Given the description of an element on the screen output the (x, y) to click on. 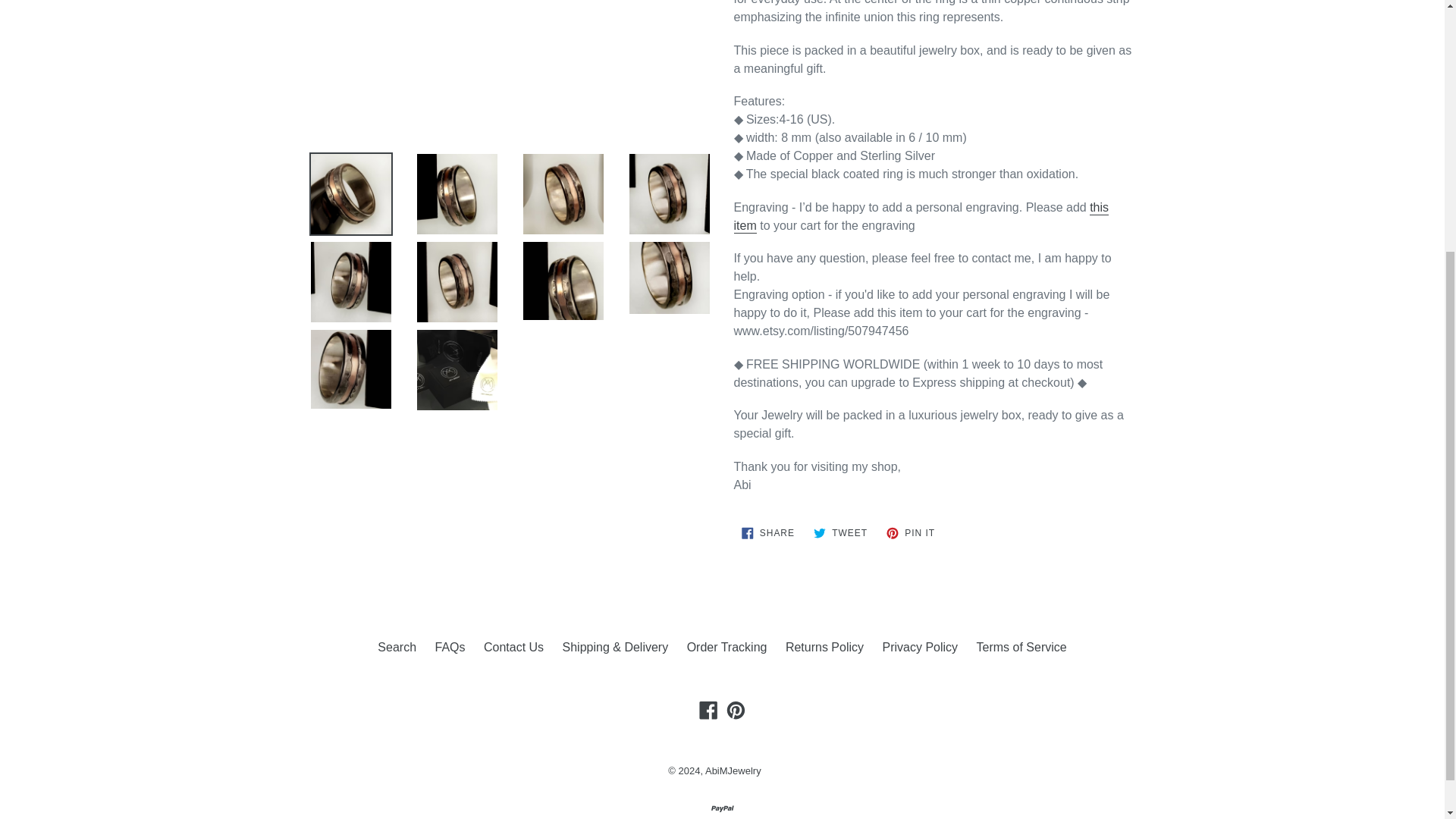
FAQs (448, 646)
Contact Us (513, 646)
Search (840, 532)
Adding Engraving (396, 646)
Order Tracking (767, 532)
this item (921, 216)
